Given the description of an element on the screen output the (x, y) to click on. 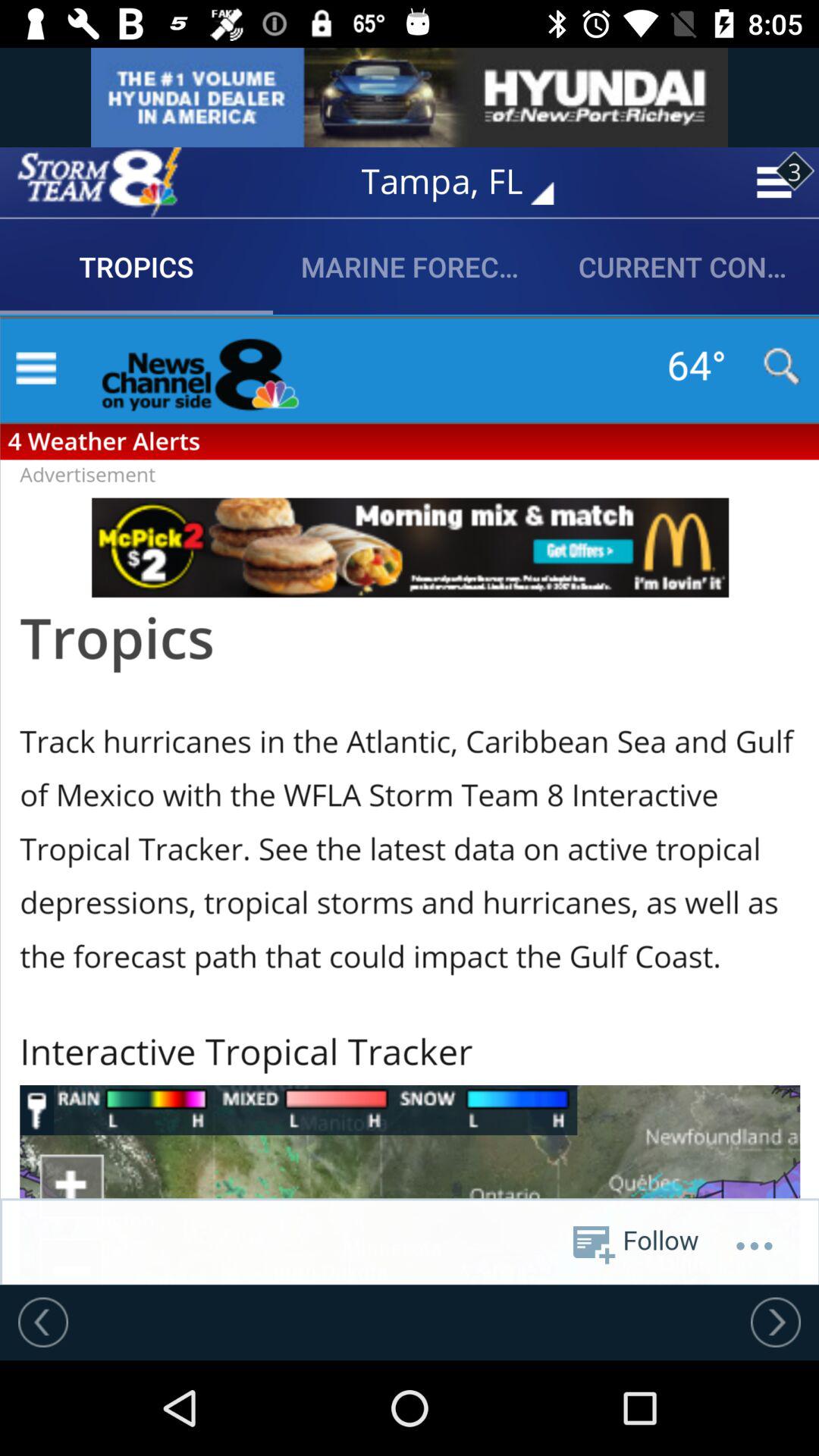
share the article (409, 799)
